Given the description of an element on the screen output the (x, y) to click on. 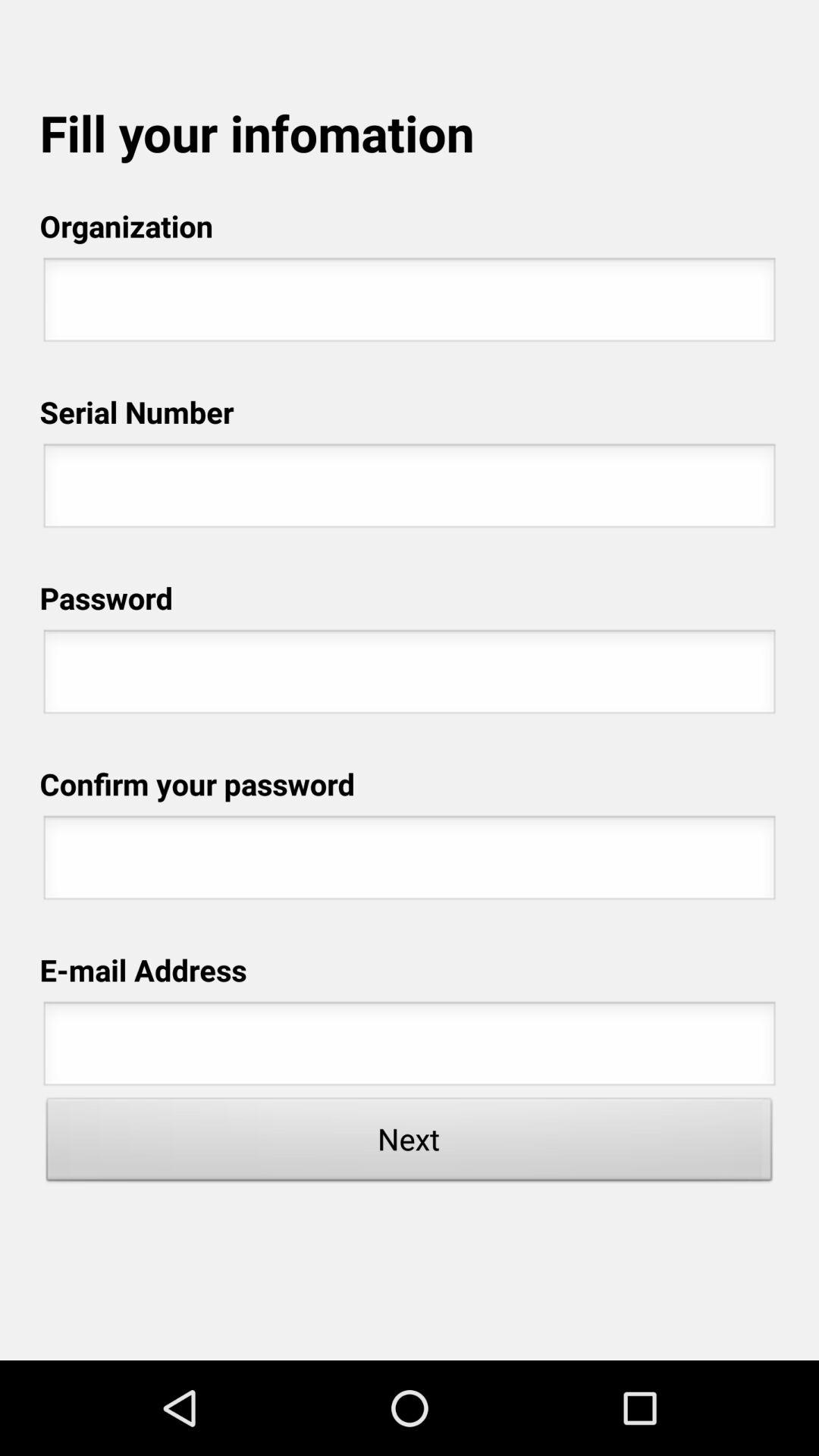
enter e-mail address (409, 1047)
